Given the description of an element on the screen output the (x, y) to click on. 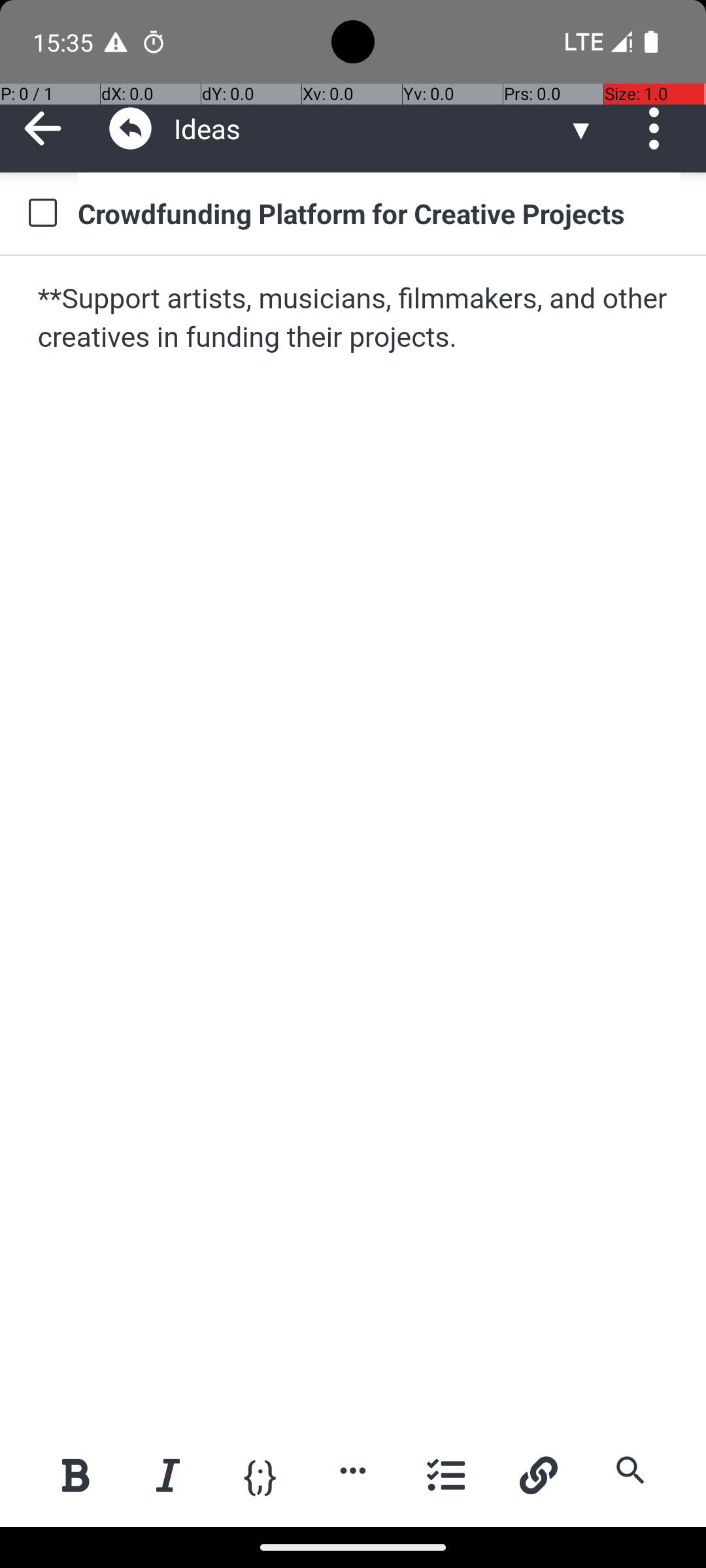
Crowdfunding Platform for Creative Projects Element type: android.widget.EditText (378, 213)
 Element type: android.widget.TextView (130, 127)
**Support artists, musicians, filmmakers, and other creatives in funding their projects. Element type: android.widget.EditText (354, 318)
